Given the description of an element on the screen output the (x, y) to click on. 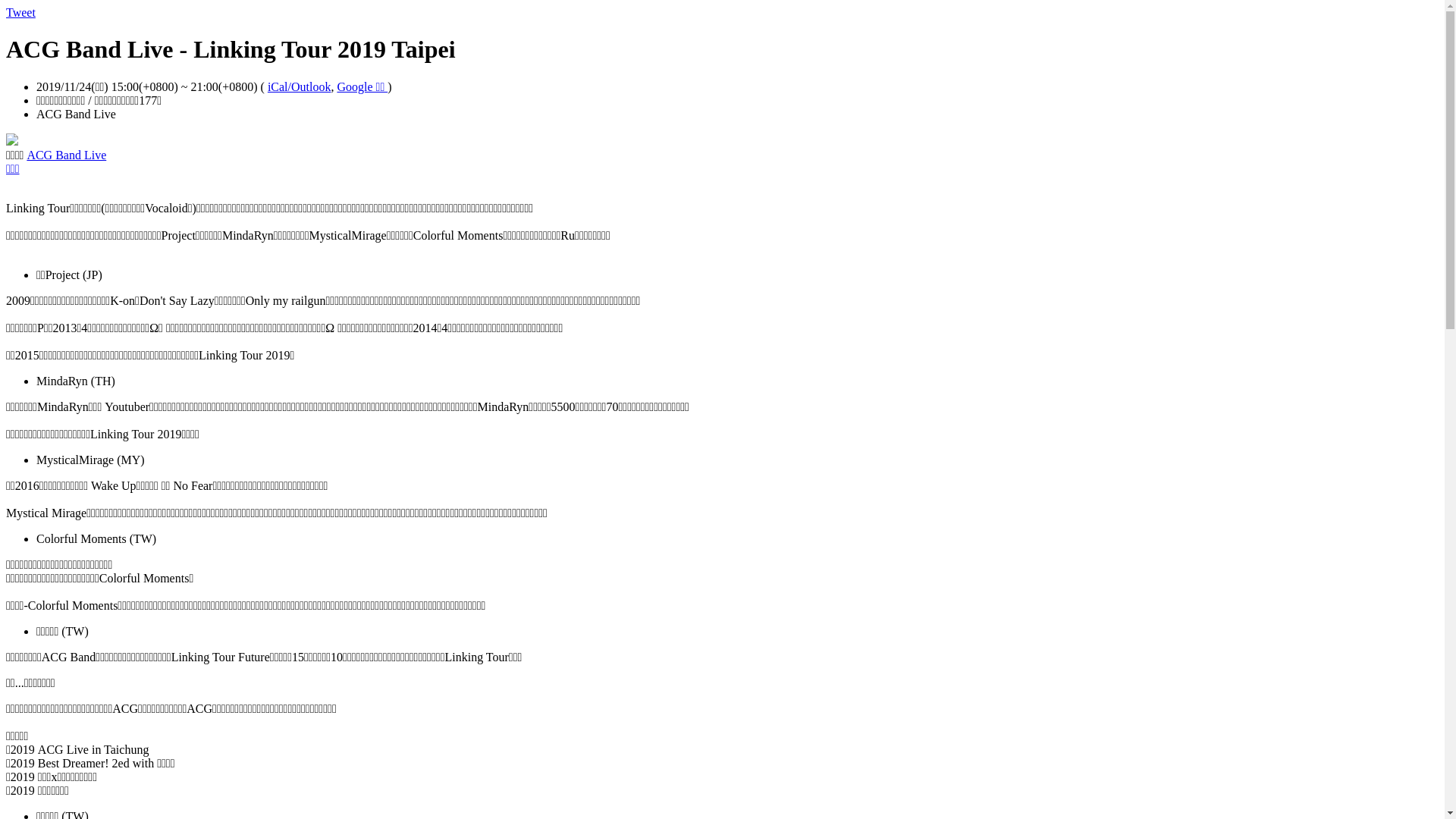
iCal/Outlook Element type: text (299, 86)
Tweet Element type: text (20, 12)
ACG Band Live Element type: text (66, 154)
